Given the description of an element on the screen output the (x, y) to click on. 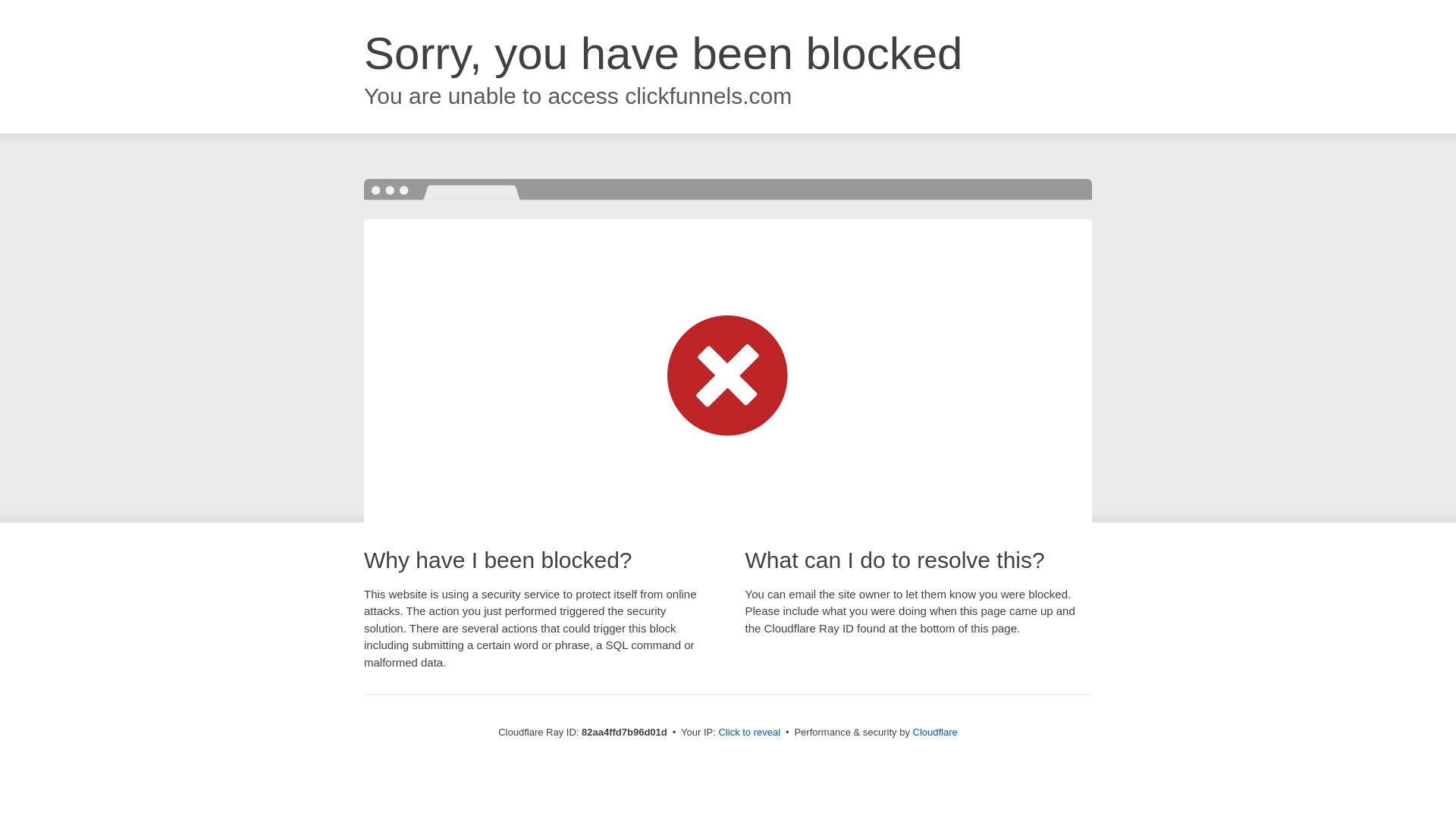
Click to reveal Element type: text (749, 732)
Cloudflare Element type: text (935, 731)
